Given the description of an element on the screen output the (x, y) to click on. 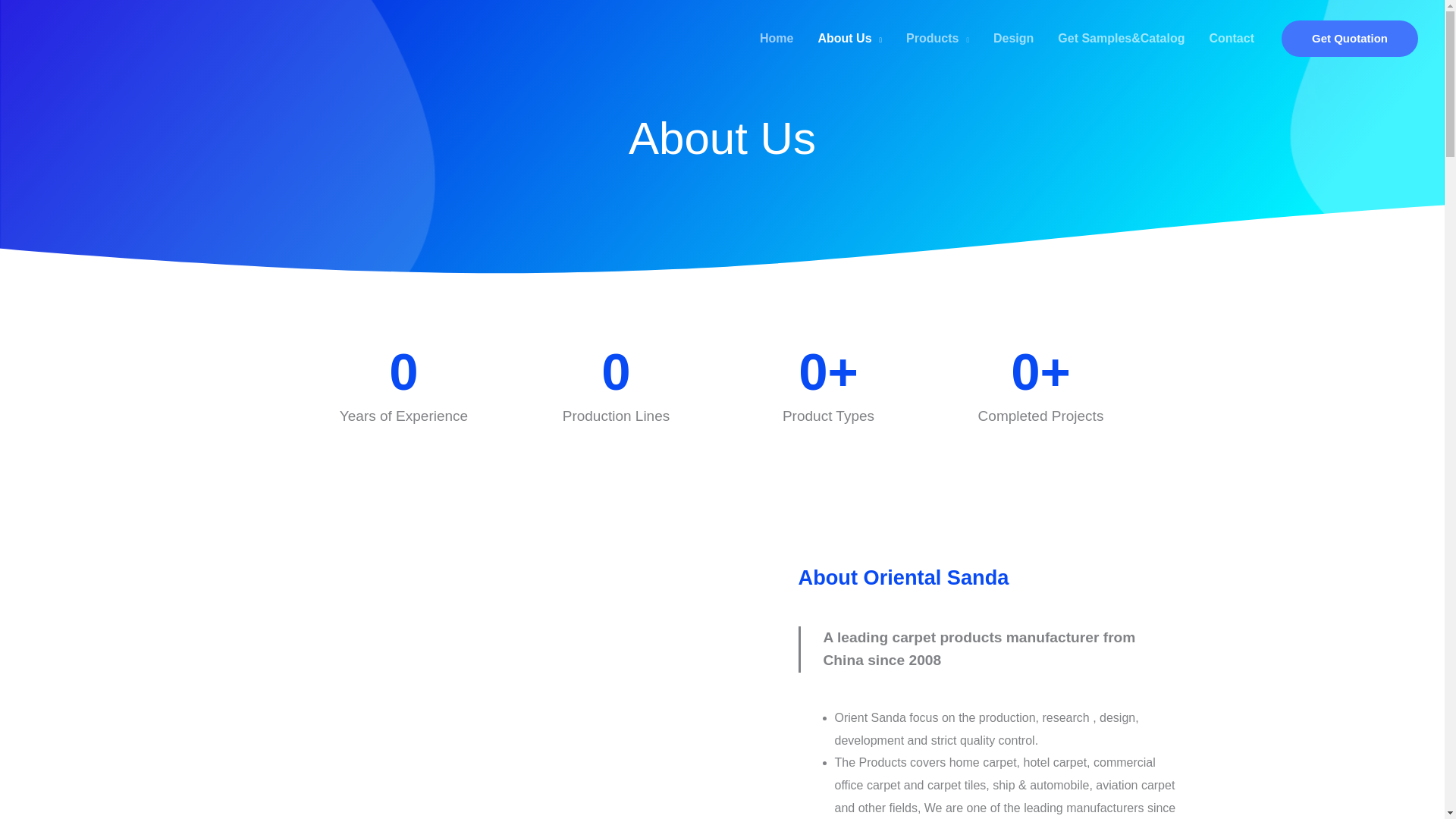
Get Quotation (1349, 38)
Design (1013, 38)
Home (776, 38)
Contact (1231, 38)
Products (937, 38)
About Us (849, 38)
